Given the description of an element on the screen output the (x, y) to click on. 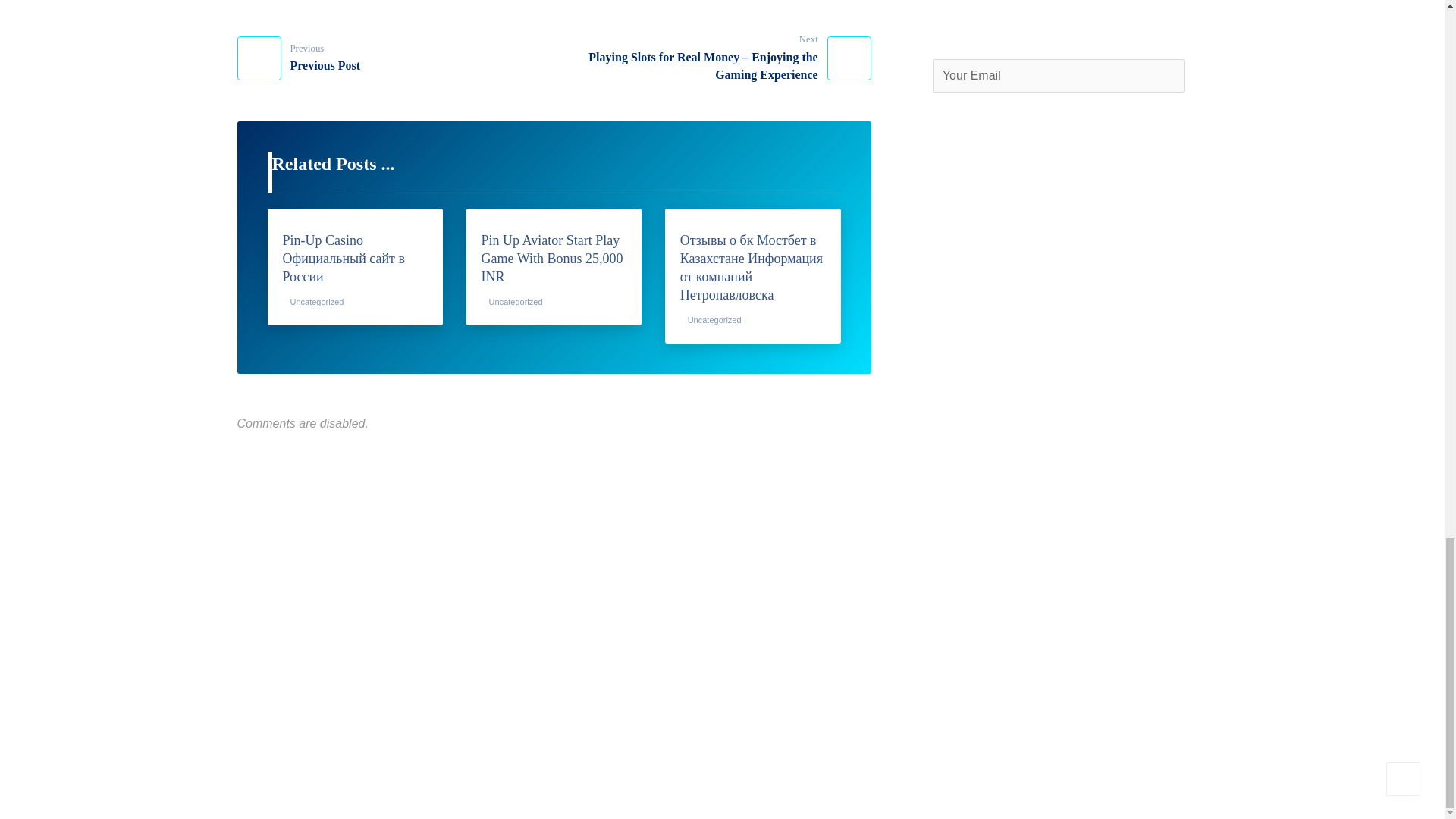
Uncategorized (516, 301)
Pin Up Aviator Start Play Game With Bonus 25,000 INR (554, 257)
Uncategorized (297, 57)
Uncategorized (714, 319)
